Given the description of an element on the screen output the (x, y) to click on. 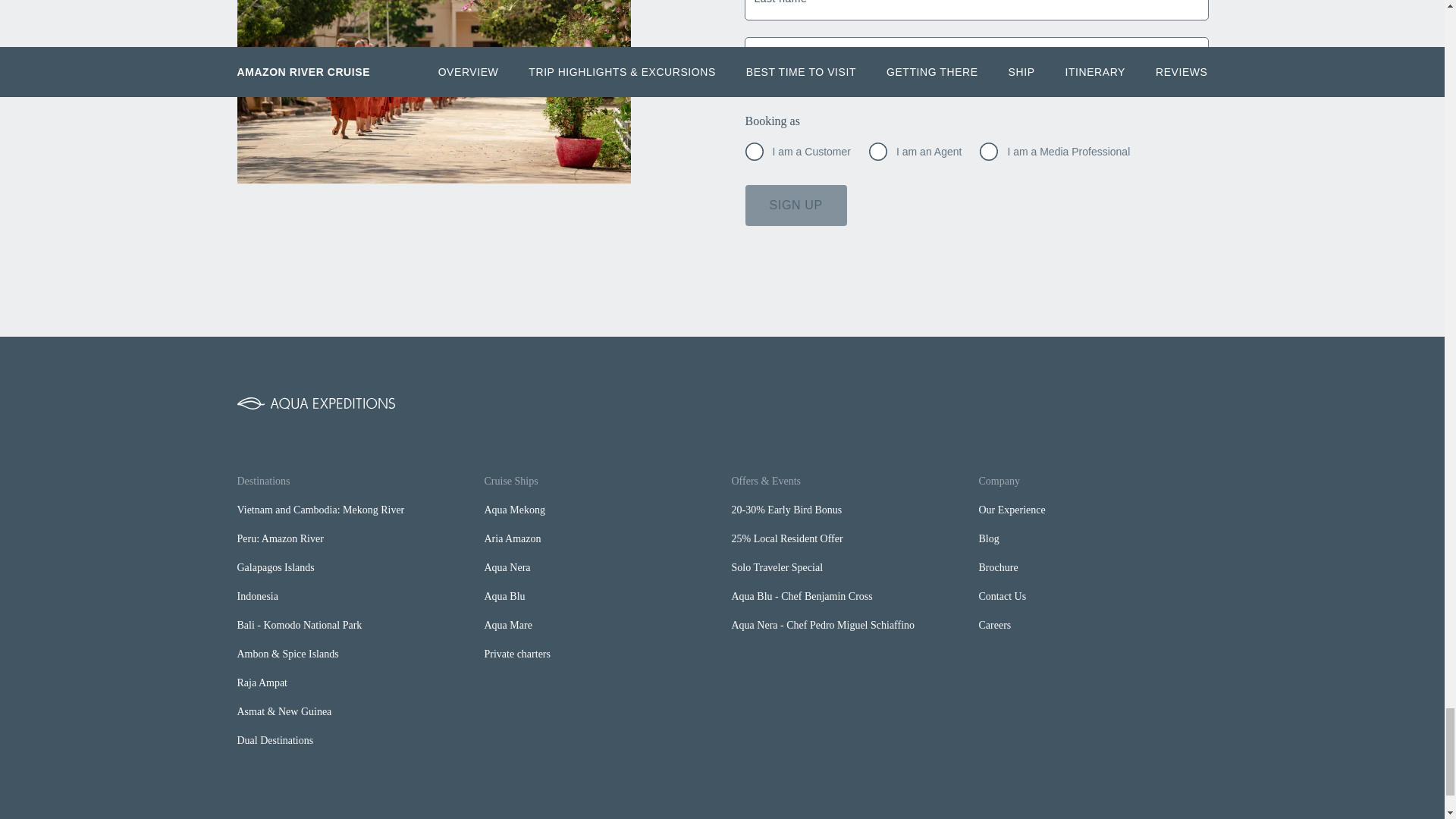
Independent Traveler (753, 151)
Media Professional (988, 151)
Trade Professional (877, 151)
